Given the description of an element on the screen output the (x, y) to click on. 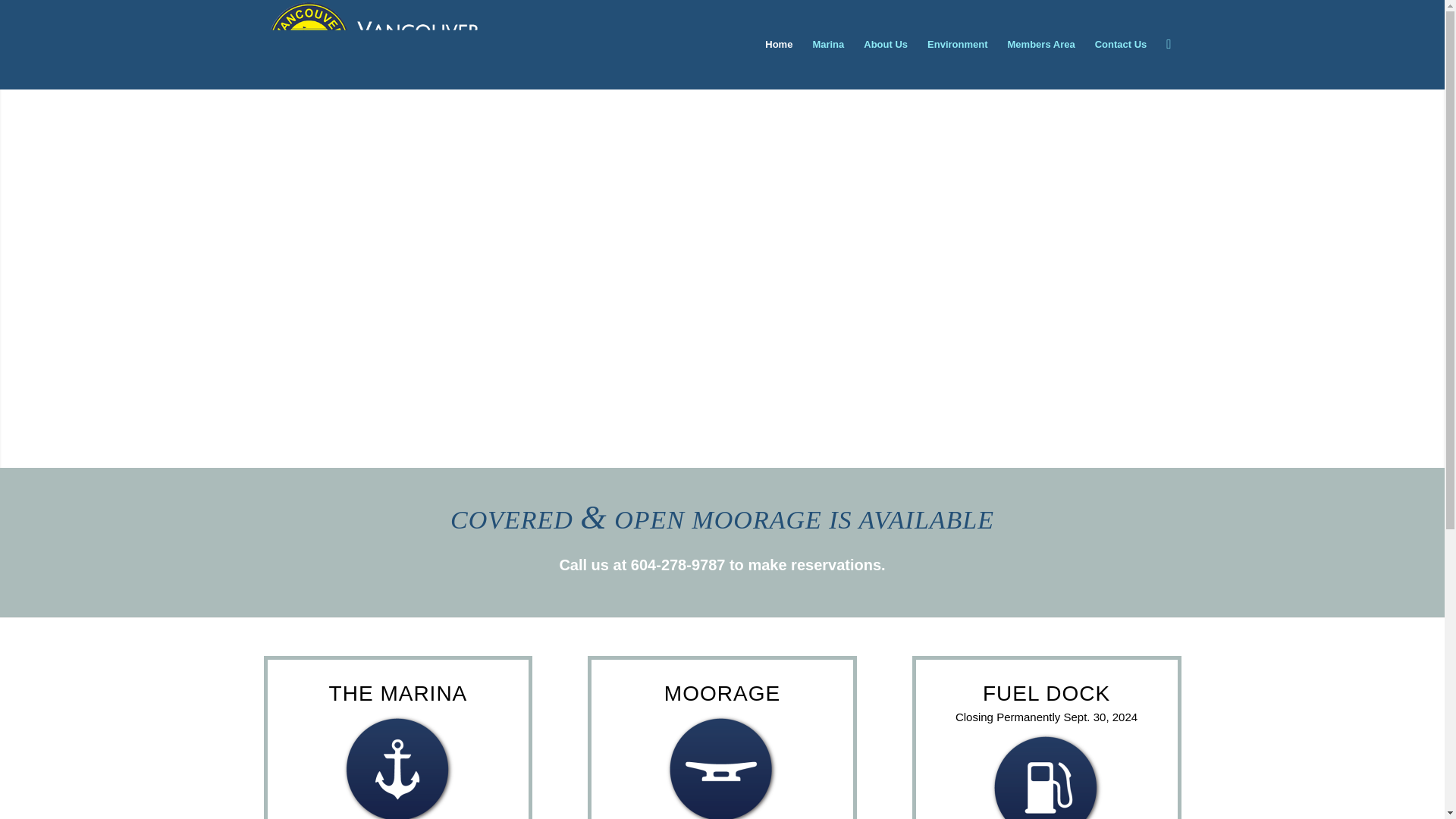
Members Area (1040, 44)
anchor-150x150 (397, 766)
Environment (957, 44)
cleat-150x150 (721, 766)
fuel-150x150 (1046, 775)
